Given the description of an element on the screen output the (x, y) to click on. 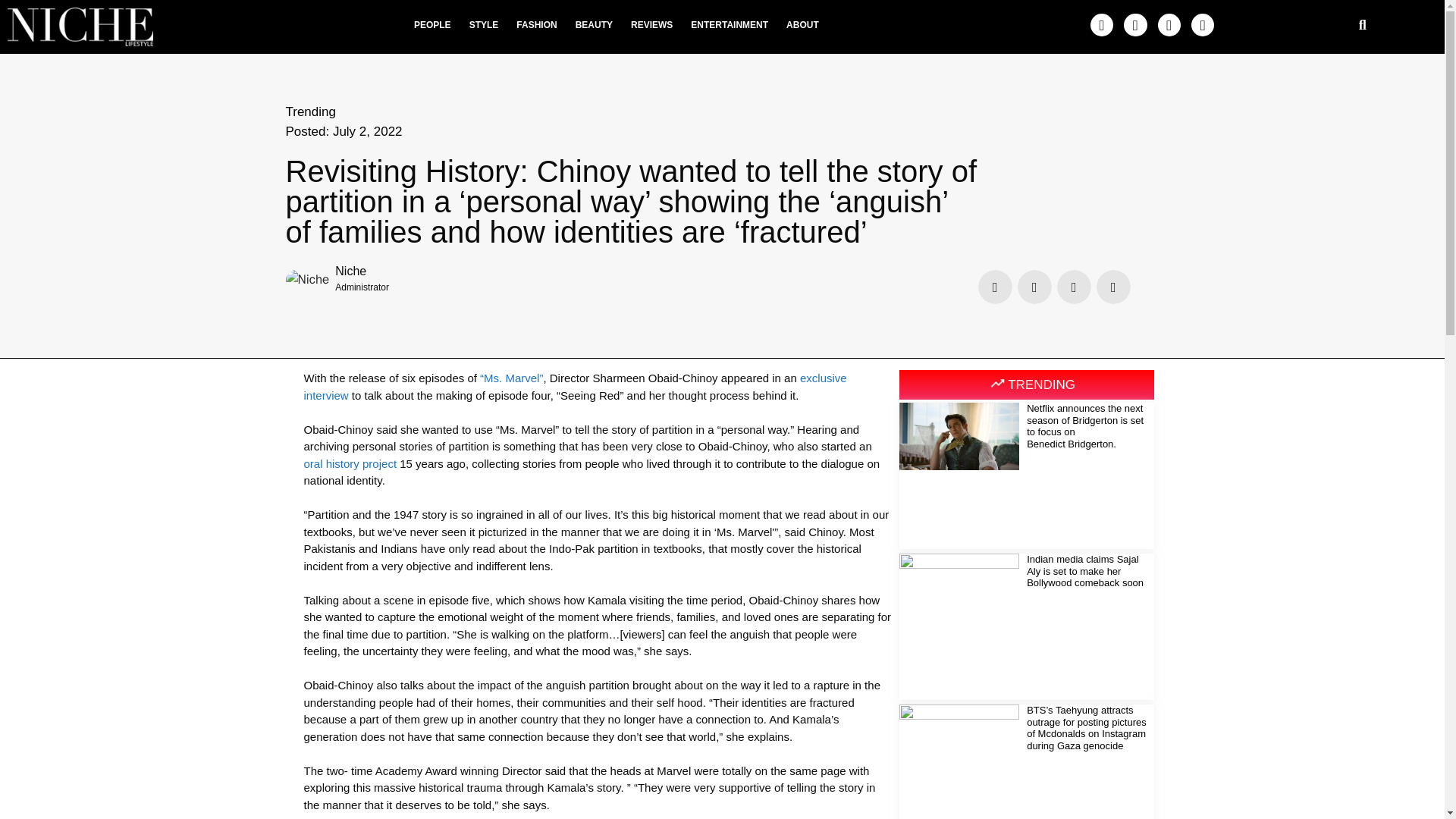
Trending (309, 111)
exclusive interview (573, 386)
FASHION (536, 24)
Posted: July 2, 2022 (343, 131)
PEOPLE (432, 24)
ENTERTAINMENT (729, 24)
oral history project (349, 463)
BEAUTY (593, 24)
ABOUT (802, 24)
REVIEWS (651, 24)
STYLE (484, 24)
